Given the description of an element on the screen output the (x, y) to click on. 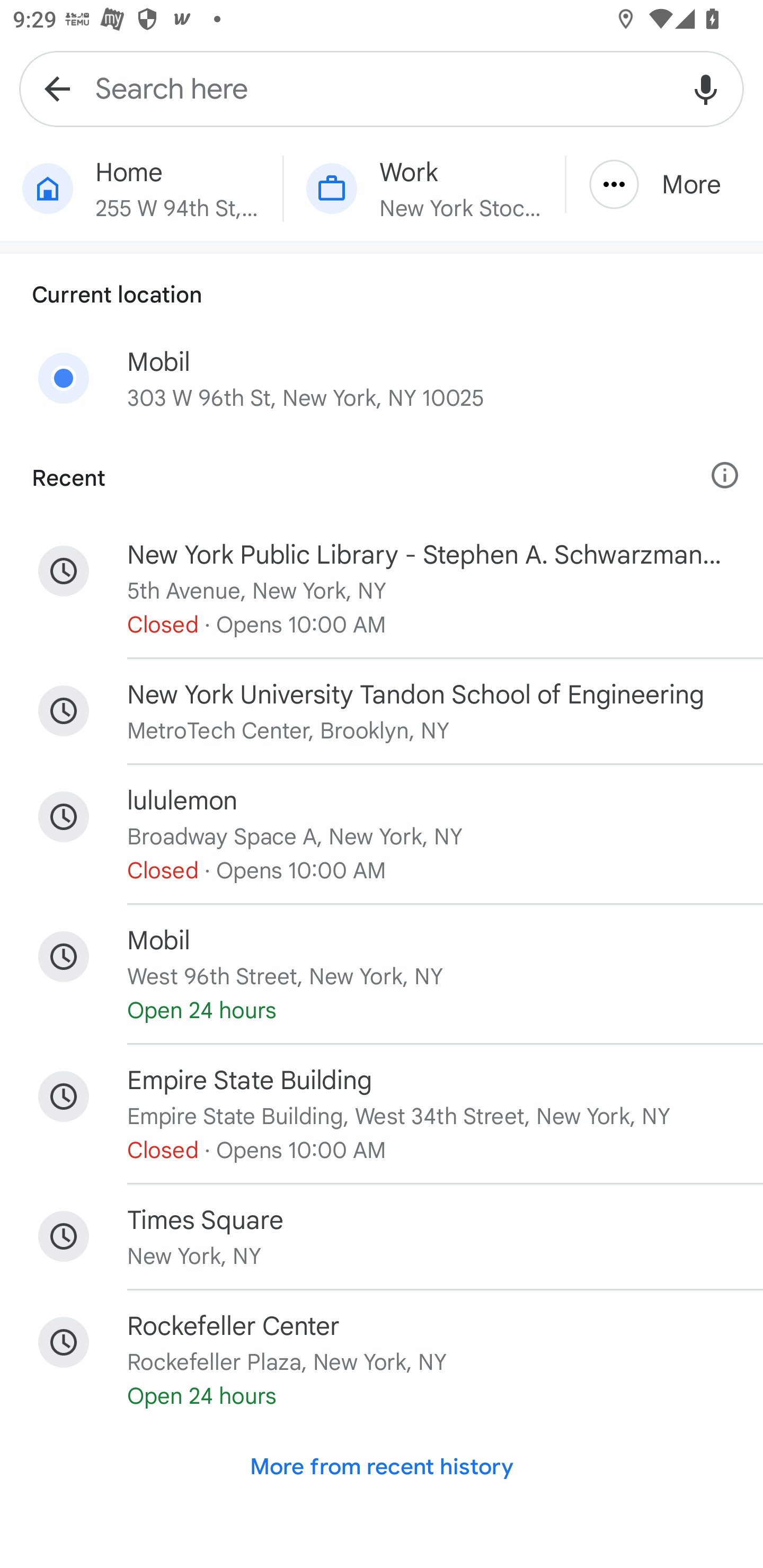
Navigate up (57, 88)
Search here (381, 88)
Voice search (705, 88)
More (664, 184)
Mobil 303 W 96th St, New York, NY 10025 (381, 386)
Mobil West 96th Street, New York, NY Open 24 hours (381, 973)
Times Square New York, NY (381, 1235)
More from recent history (381, 1466)
